Given the description of an element on the screen output the (x, y) to click on. 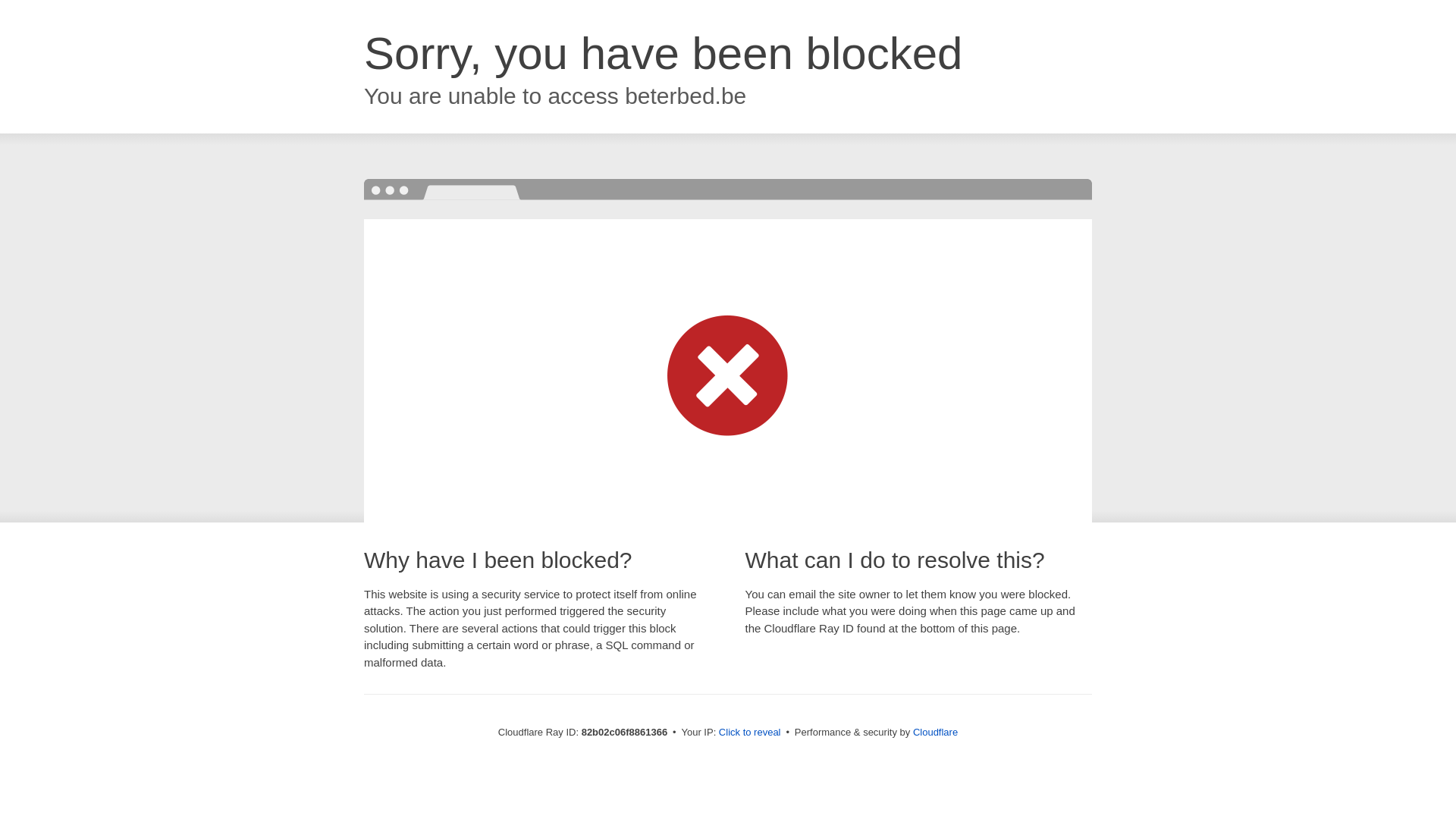
Cloudflare Element type: text (935, 731)
Click to reveal Element type: text (749, 732)
